Given the description of an element on the screen output the (x, y) to click on. 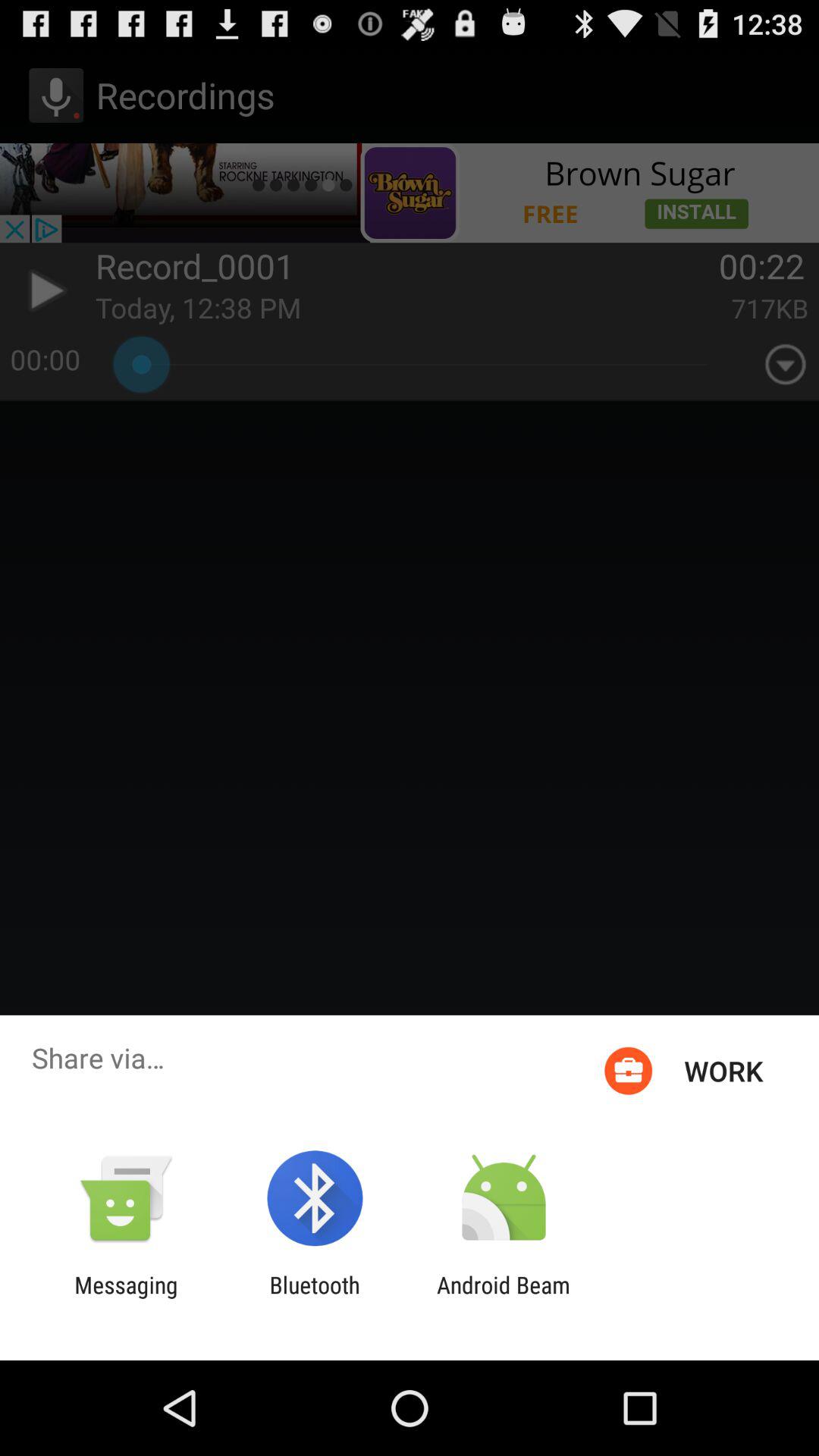
turn off the icon to the right of messaging (314, 1298)
